Given the description of an element on the screen output the (x, y) to click on. 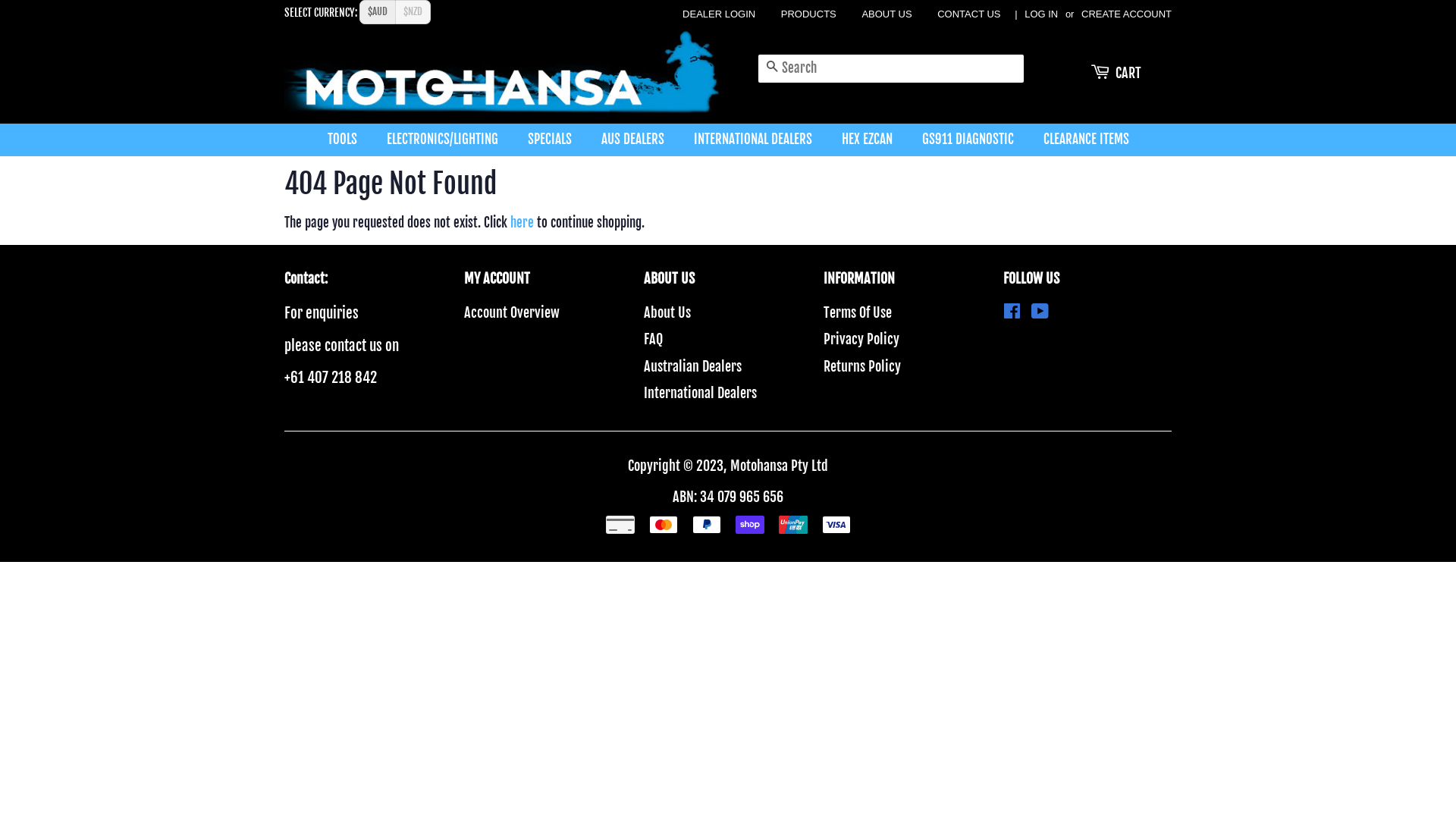
YouTube Element type: text (1039, 312)
DEALER LOGIN Element type: text (718, 13)
GS911 DIAGNOSTIC Element type: text (969, 139)
INTERNATIONAL DEALERS Element type: text (754, 139)
HEX EZCAN Element type: text (867, 139)
CLEARANCE ITEMS Element type: text (1079, 139)
Motohansa Pty Ltd Element type: text (779, 465)
ABOUT US Element type: text (886, 13)
ELECTRONICS/LIGHTING Element type: text (443, 139)
LOG IN Element type: text (1040, 13)
Returns Policy Element type: text (861, 365)
SEARCH Element type: text (771, 66)
Australian Dealers Element type: text (692, 365)
here Element type: text (521, 222)
CREATE ACCOUNT Element type: text (1126, 13)
Facebook Element type: text (1011, 312)
CONTACT US Element type: text (968, 13)
Account Overview Element type: text (511, 312)
TOOLS Element type: text (349, 139)
About Us Element type: text (666, 312)
Terms Of Use Element type: text (857, 312)
International Dealers Element type: text (699, 392)
Privacy Policy Element type: text (861, 338)
CART Element type: text (1128, 72)
PRODUCTS Element type: text (808, 13)
FAQ Element type: text (652, 338)
SPECIALS Element type: text (550, 139)
AUS DEALERS Element type: text (634, 139)
